Given the description of an element on the screen output the (x, y) to click on. 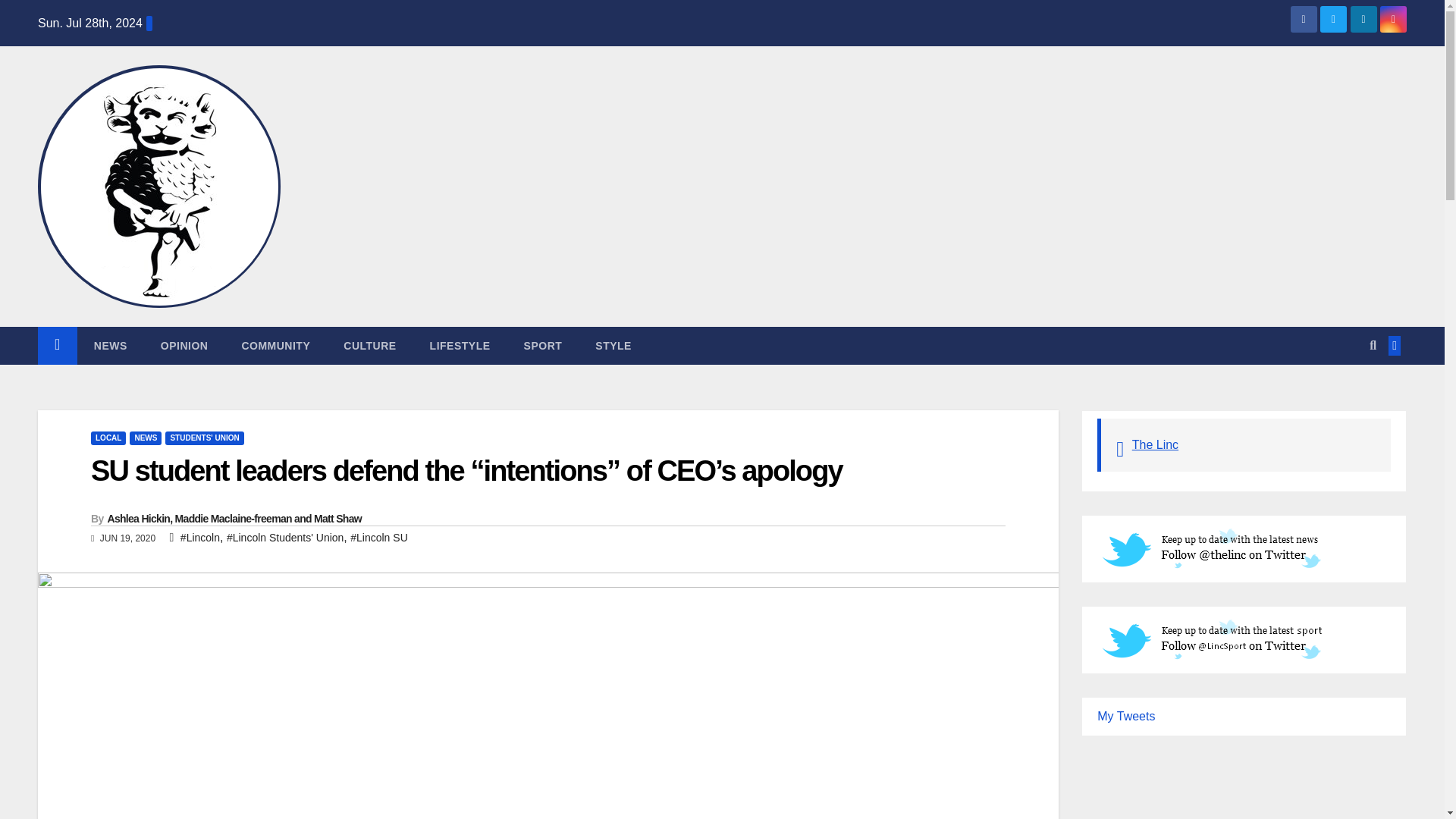
SPORT (542, 345)
News (110, 345)
COMMUNITY (275, 345)
Culture (369, 345)
Opinion (184, 345)
NEWS (110, 345)
LIFESTYLE (459, 345)
Community (275, 345)
OPINION (184, 345)
CULTURE (369, 345)
